Given the description of an element on the screen output the (x, y) to click on. 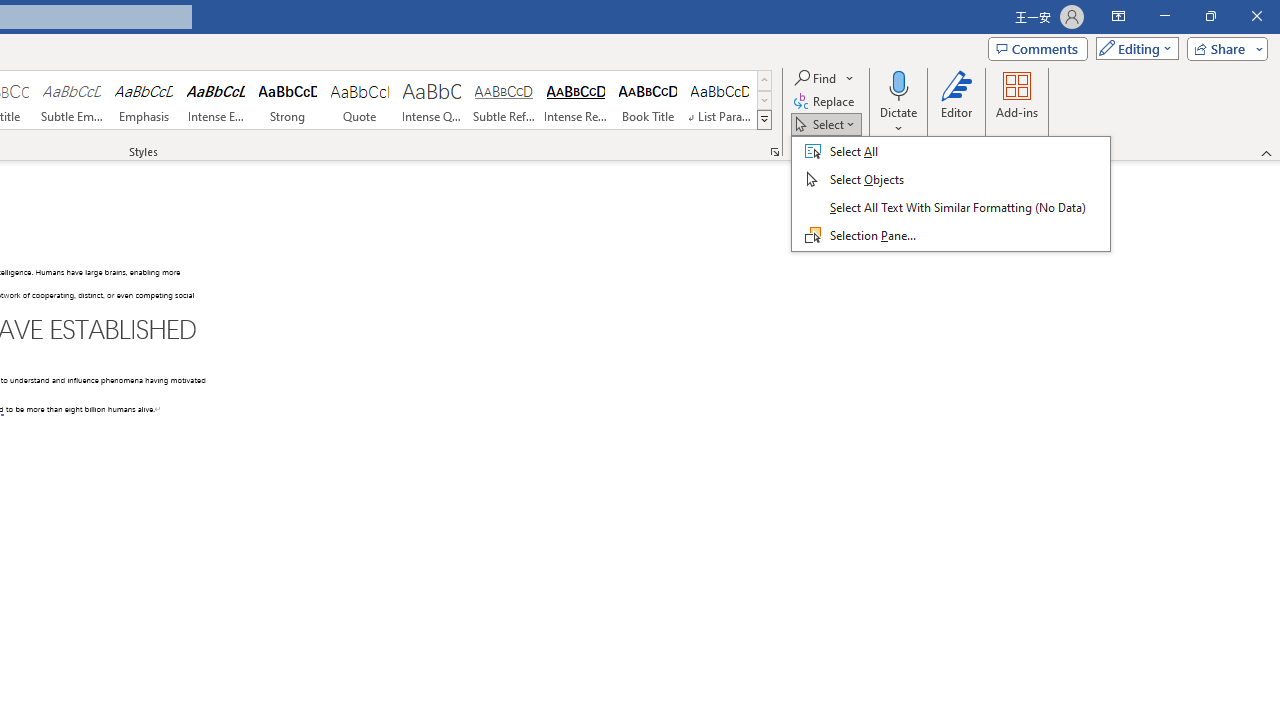
Intense Quote (431, 100)
Intense Reference (575, 100)
Subtle Emphasis (71, 100)
